Given the description of an element on the screen output the (x, y) to click on. 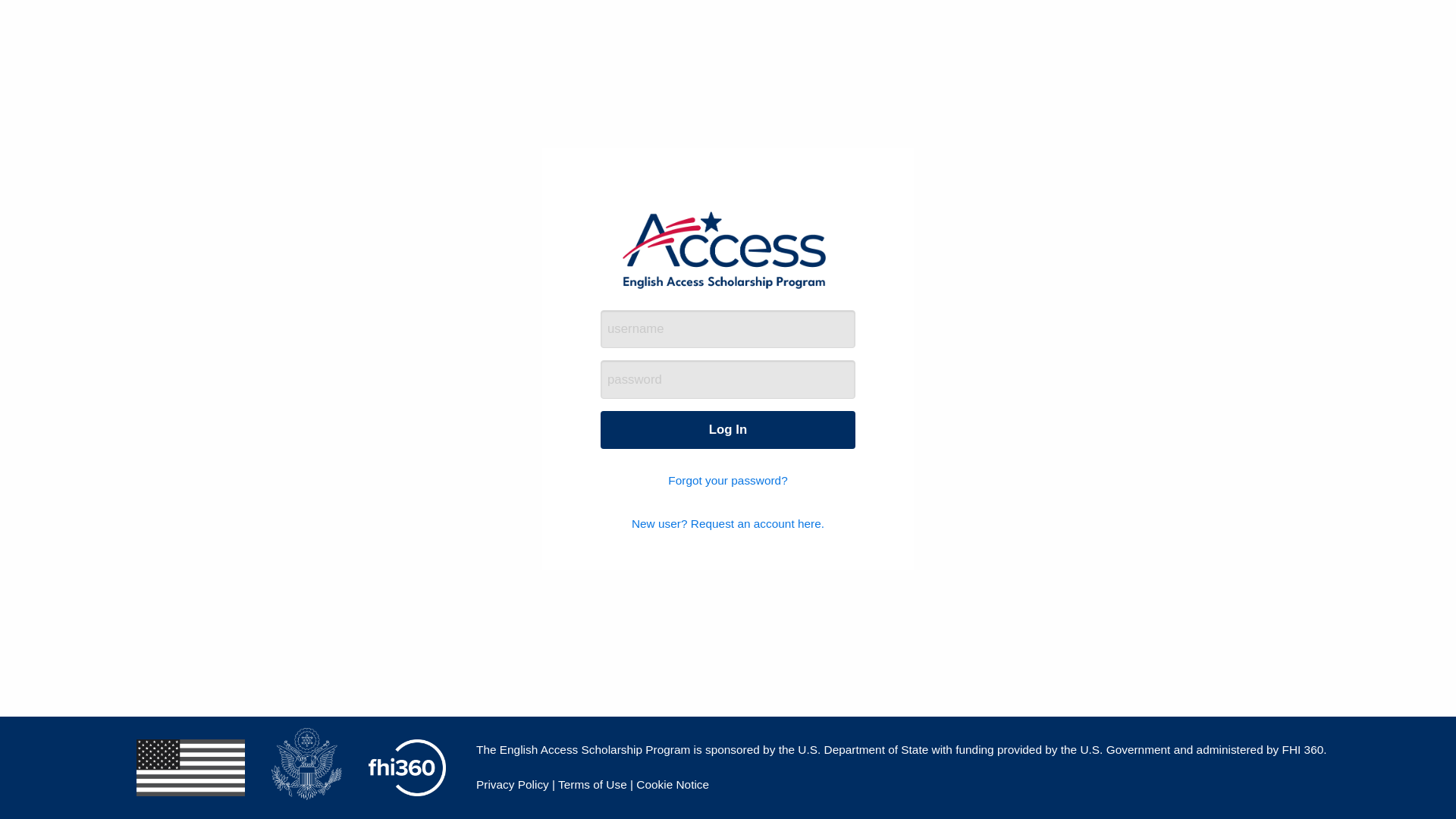
Log In (727, 429)
Privacy Policy (512, 784)
Forgot your password? (727, 481)
Cookie Notice (672, 784)
New user? Request an account here. (727, 525)
Terms of Use (592, 784)
